Given the description of an element on the screen output the (x, y) to click on. 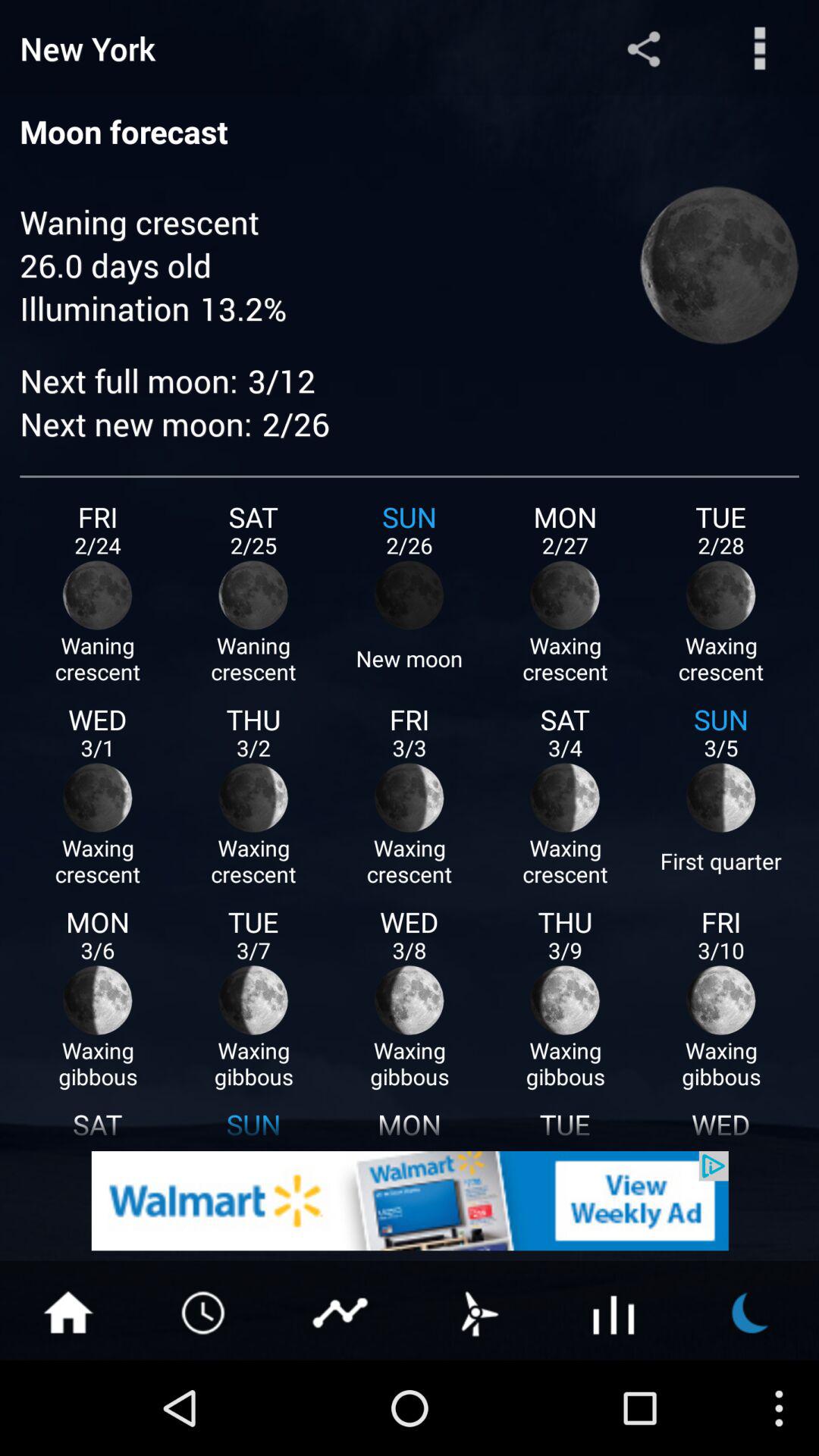
share the details in this page to social media like facebook twitter instagram (643, 48)
